Given the description of an element on the screen output the (x, y) to click on. 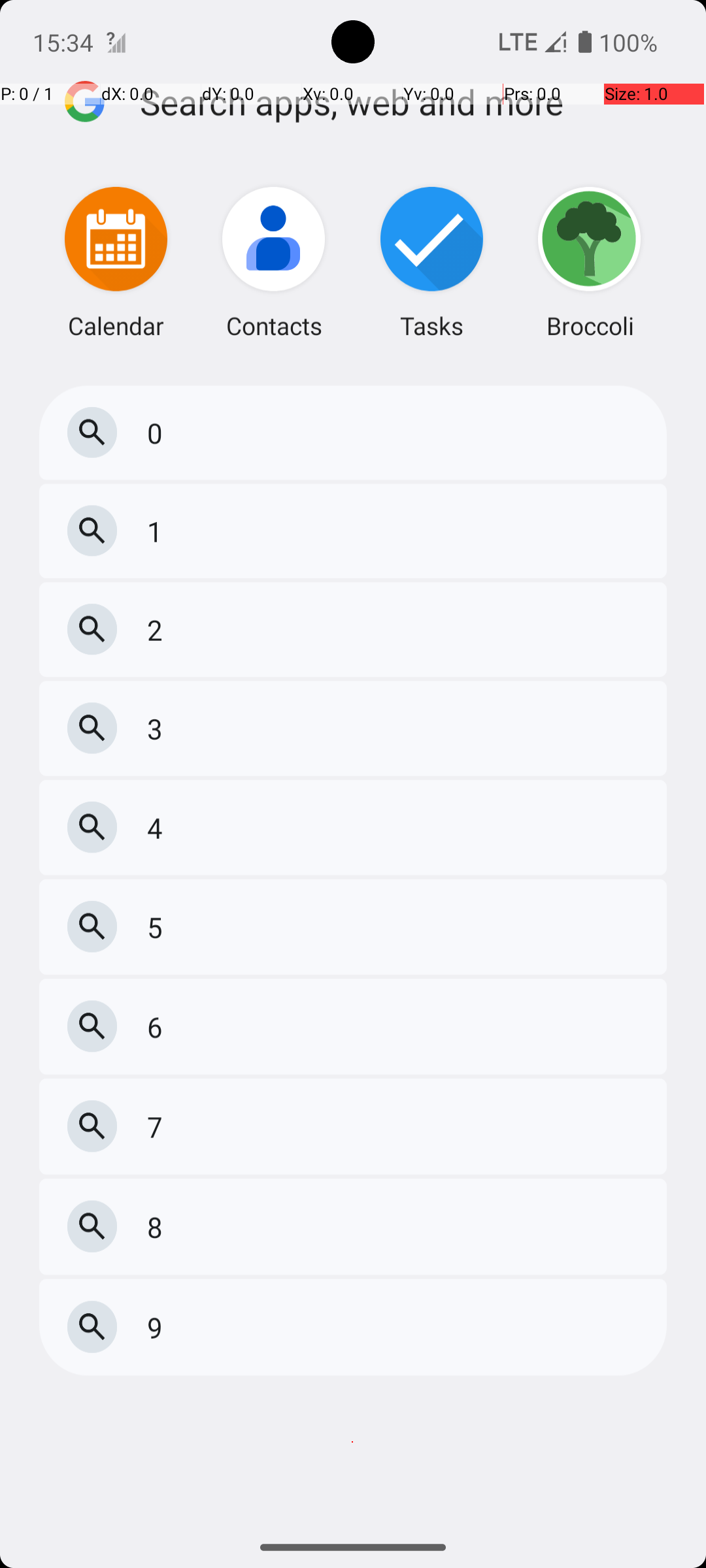
Search apps, web and more Element type: android.widget.EditText (403, 148)
